Given the description of an element on the screen output the (x, y) to click on. 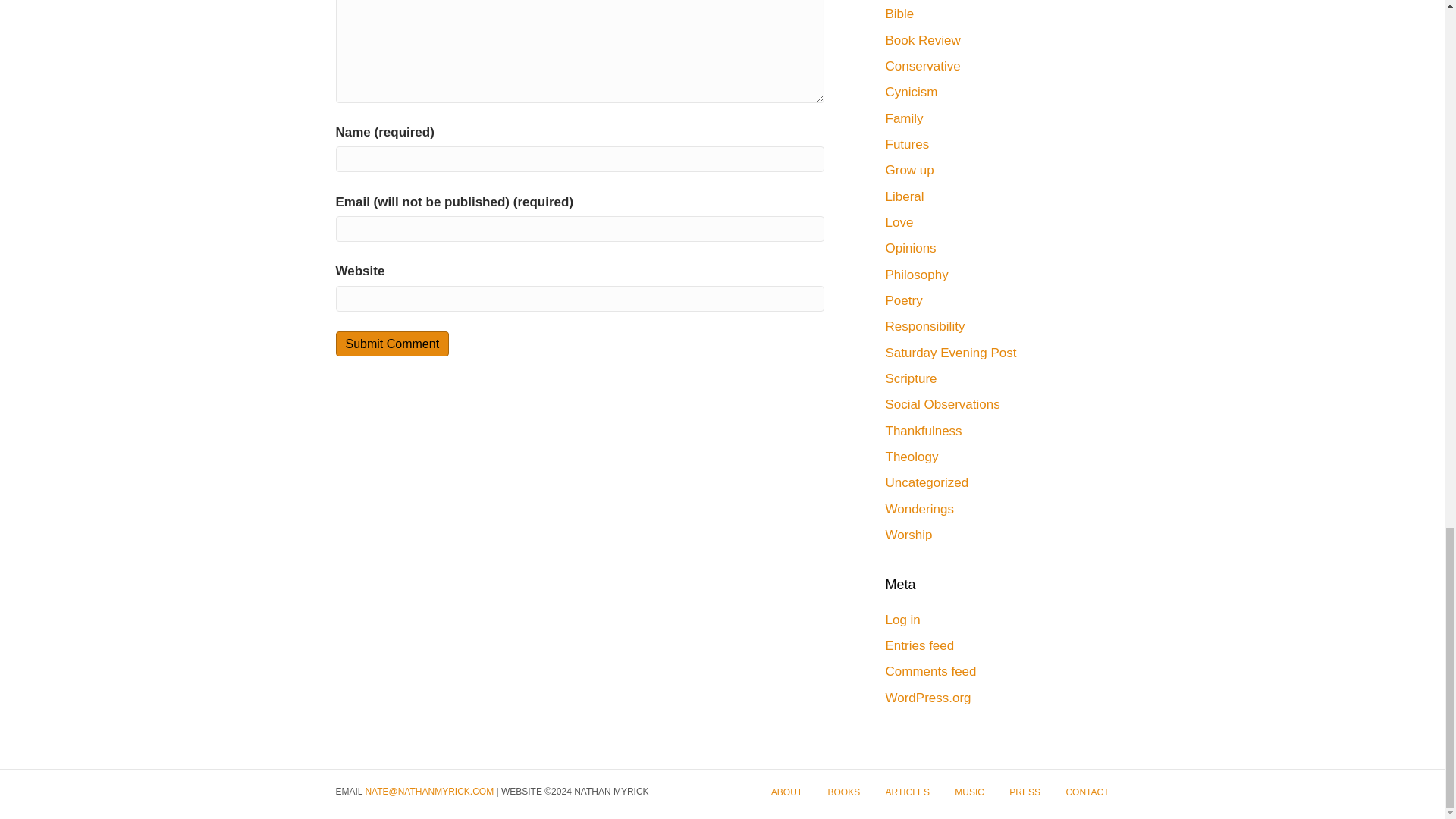
Submit Comment (391, 343)
Submit Comment (391, 343)
